Given the description of an element on the screen output the (x, y) to click on. 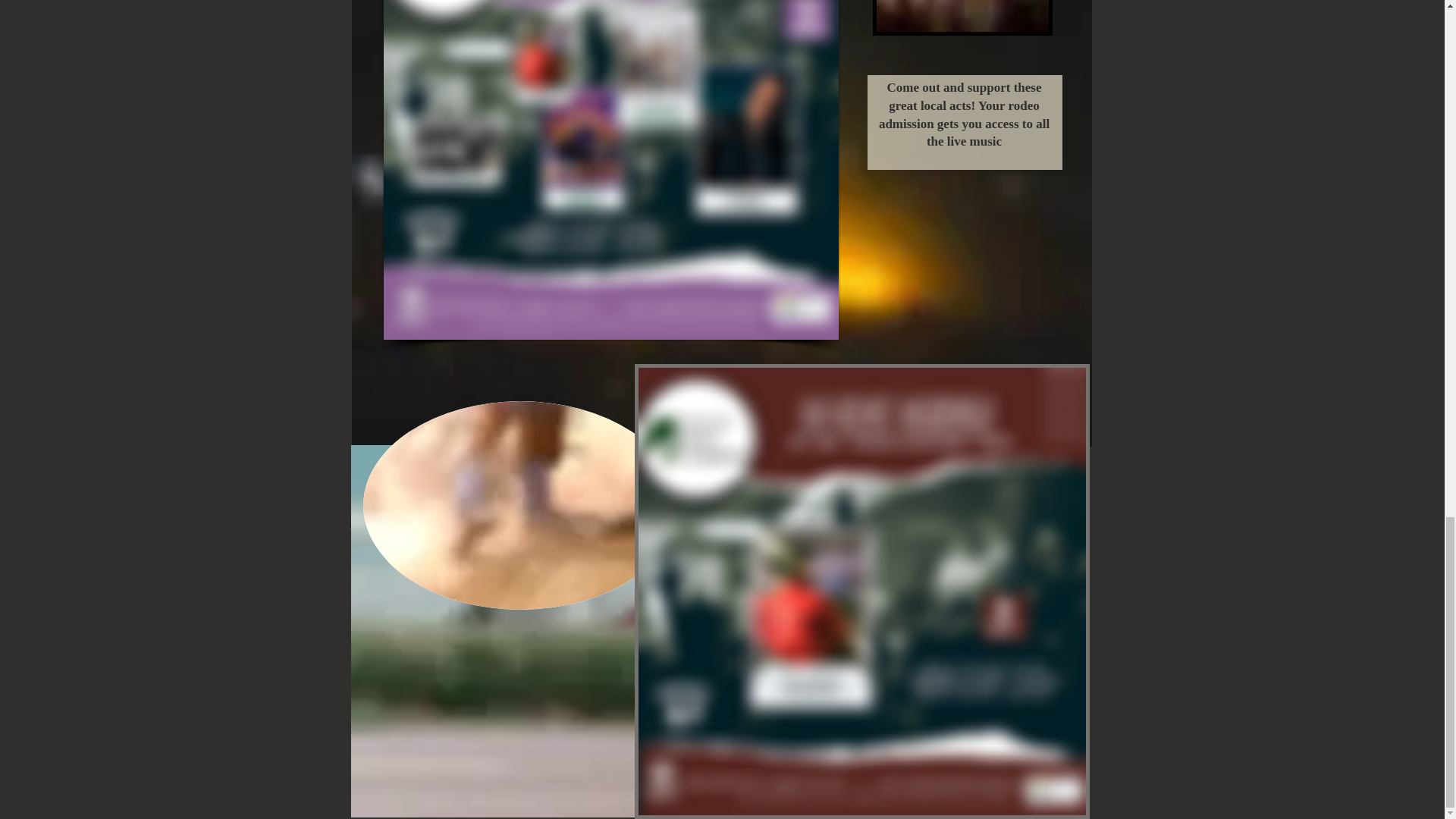
Cowboy at Work (519, 505)
Concert (961, 18)
